Given the description of an element on the screen output the (x, y) to click on. 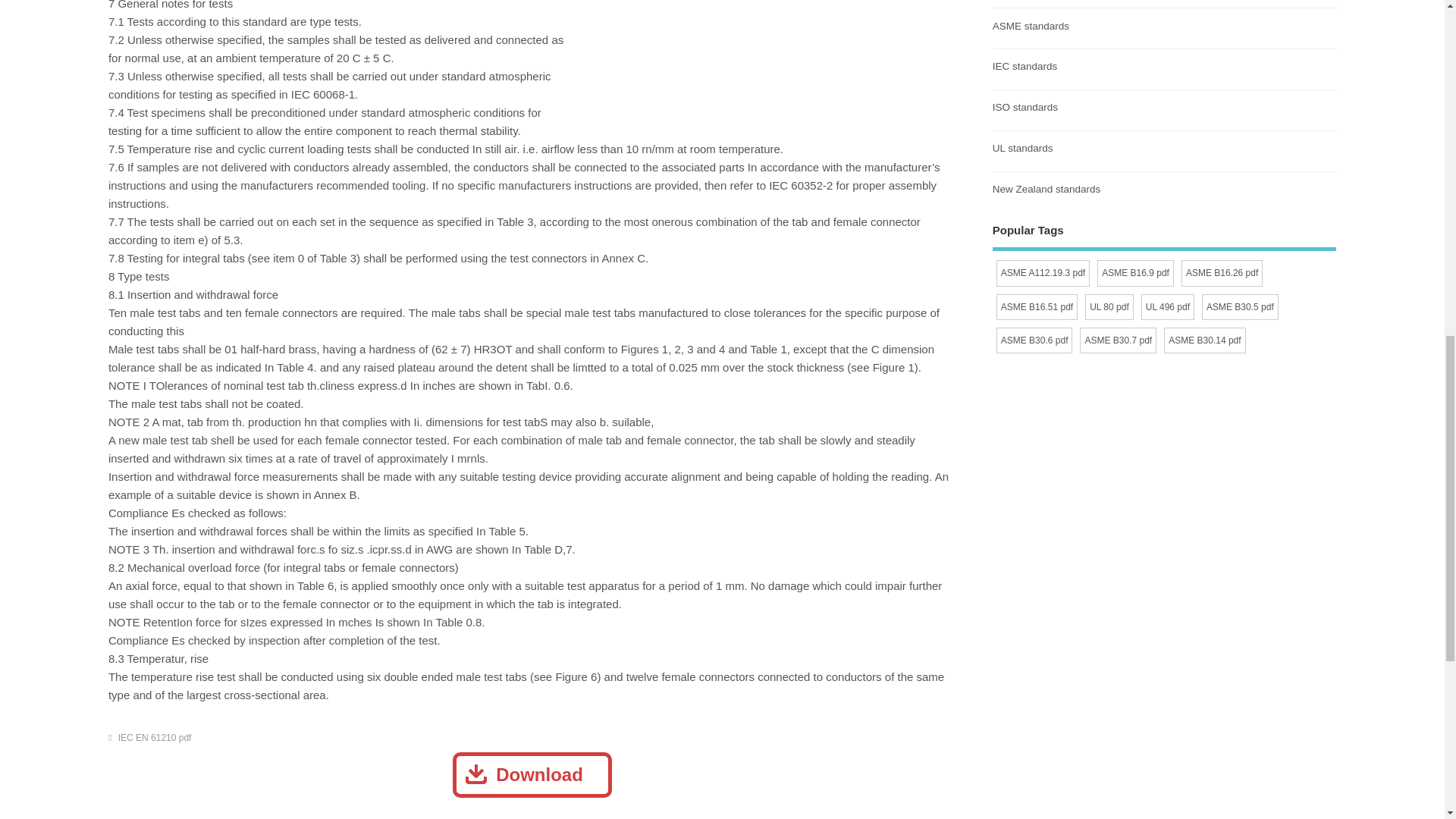
ASME B30.14 pdf (1203, 339)
Advertisement (531, 810)
ASME B16.26 pdf (1221, 272)
IEC standards (1025, 66)
ASME B16.51 pdf (1036, 307)
IEC EN 61210 pdf (154, 737)
ASME B30.7 pdf (1118, 339)
UL 80 pdf (1109, 307)
ASME B30.5 pdf (1240, 307)
Download (531, 774)
ASME standards (1030, 25)
ISO standards (1025, 107)
ASME A112.19.3 pdf (1042, 272)
ASME B30.6 pdf (1034, 339)
New Zealand standards (1046, 188)
